Given the description of an element on the screen output the (x, y) to click on. 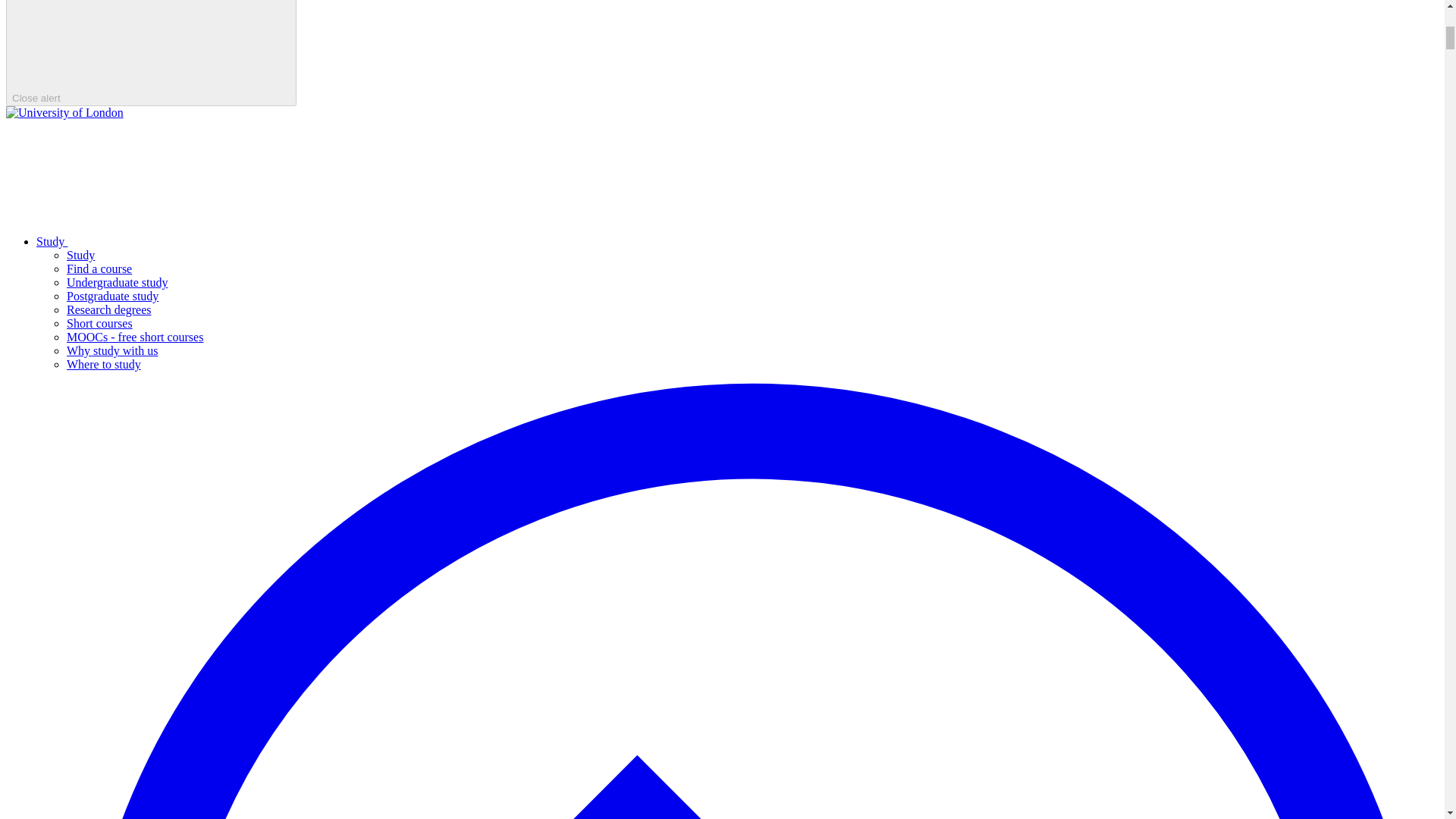
Study (165, 241)
Research degrees (108, 309)
Study (80, 254)
Short courses (99, 323)
Postgraduate study (112, 295)
Undergraduate study (116, 282)
Find a course (99, 268)
MOOCs - free short courses (134, 336)
Close alert (151, 53)
Why study with us (111, 350)
